Given the description of an element on the screen output the (x, y) to click on. 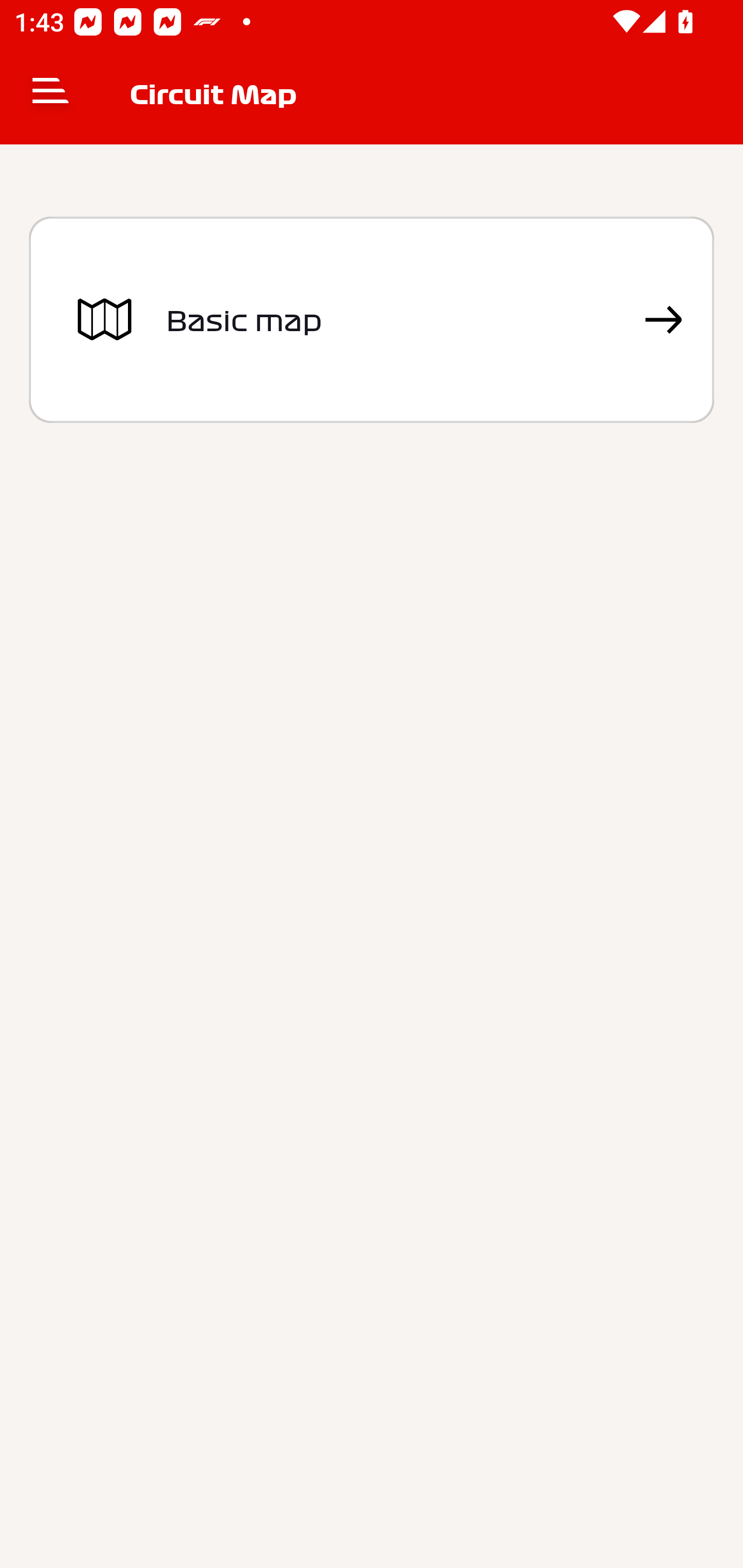
Navigate up (50, 93)
Basic map (371, 319)
